Given the description of an element on the screen output the (x, y) to click on. 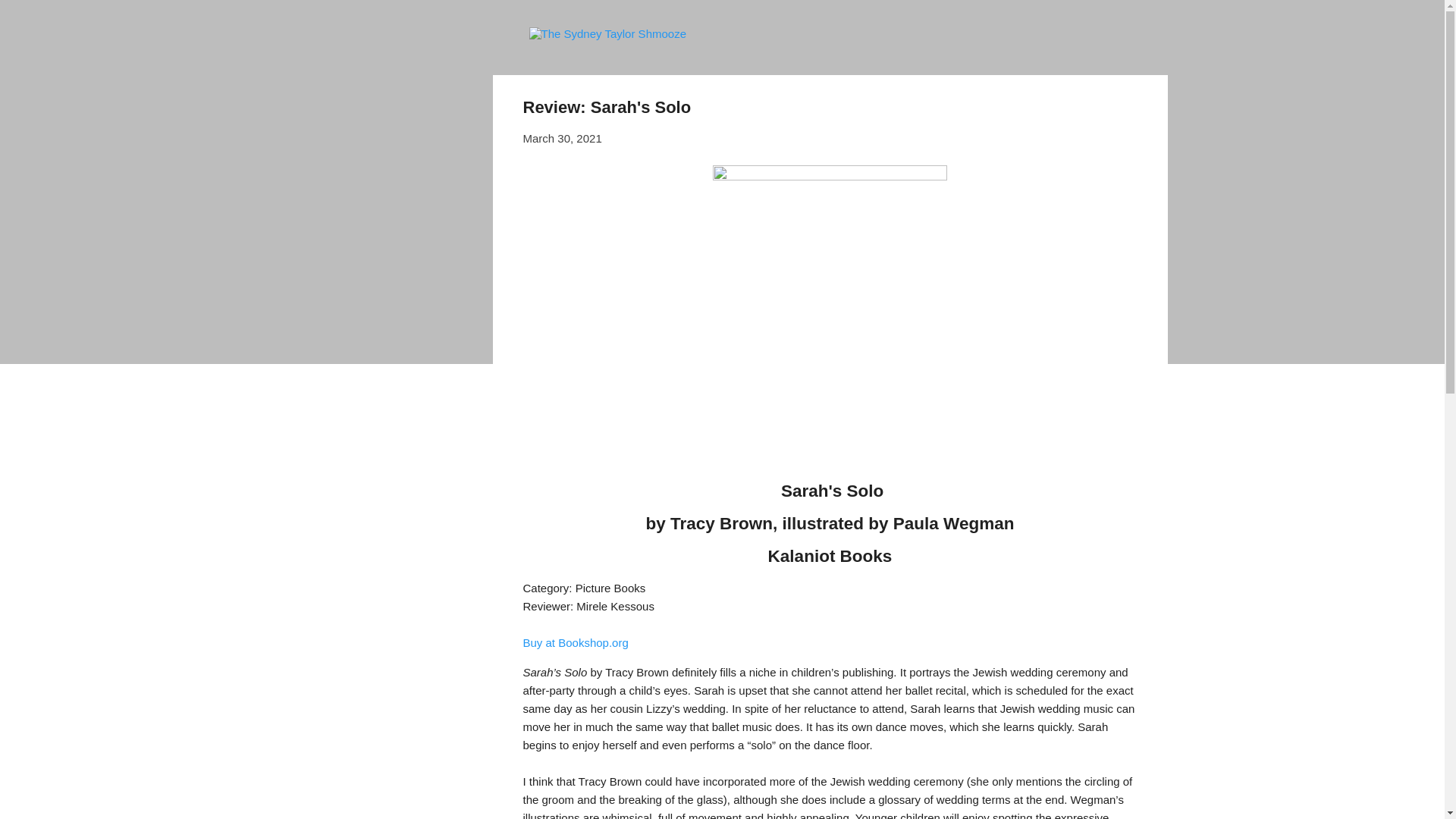
Search (29, 18)
March 30, 2021 (562, 137)
Buy at Bookshop.org (575, 642)
permanent link (562, 137)
